Given the description of an element on the screen output the (x, y) to click on. 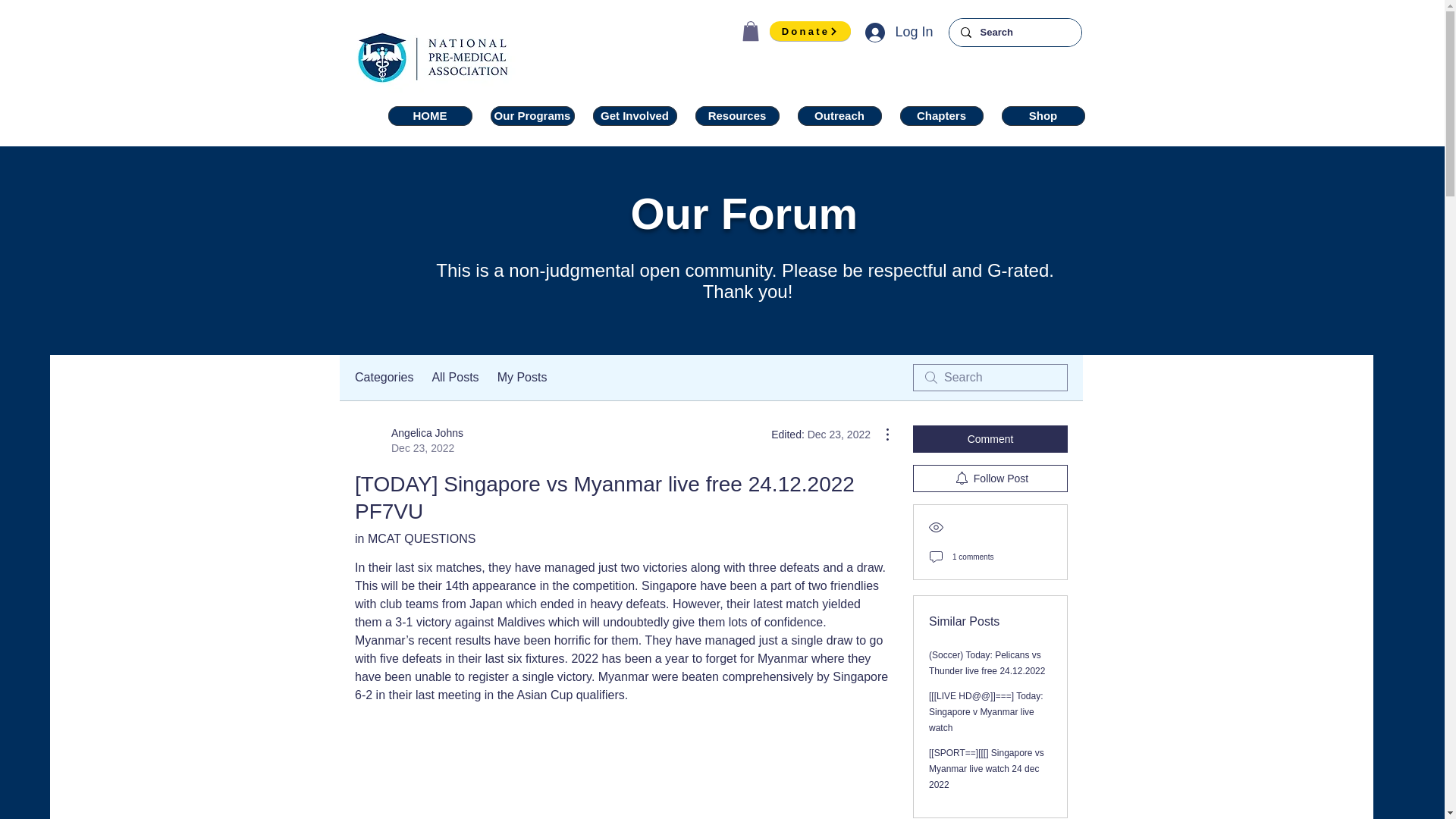
Resources (736, 116)
Outreach (839, 116)
Chapters (940, 116)
Shop (1042, 116)
Categories (409, 440)
All Posts (384, 377)
Log In (454, 377)
HOME (898, 32)
in MCAT QUESTIONS (429, 116)
